Given the description of an element on the screen output the (x, y) to click on. 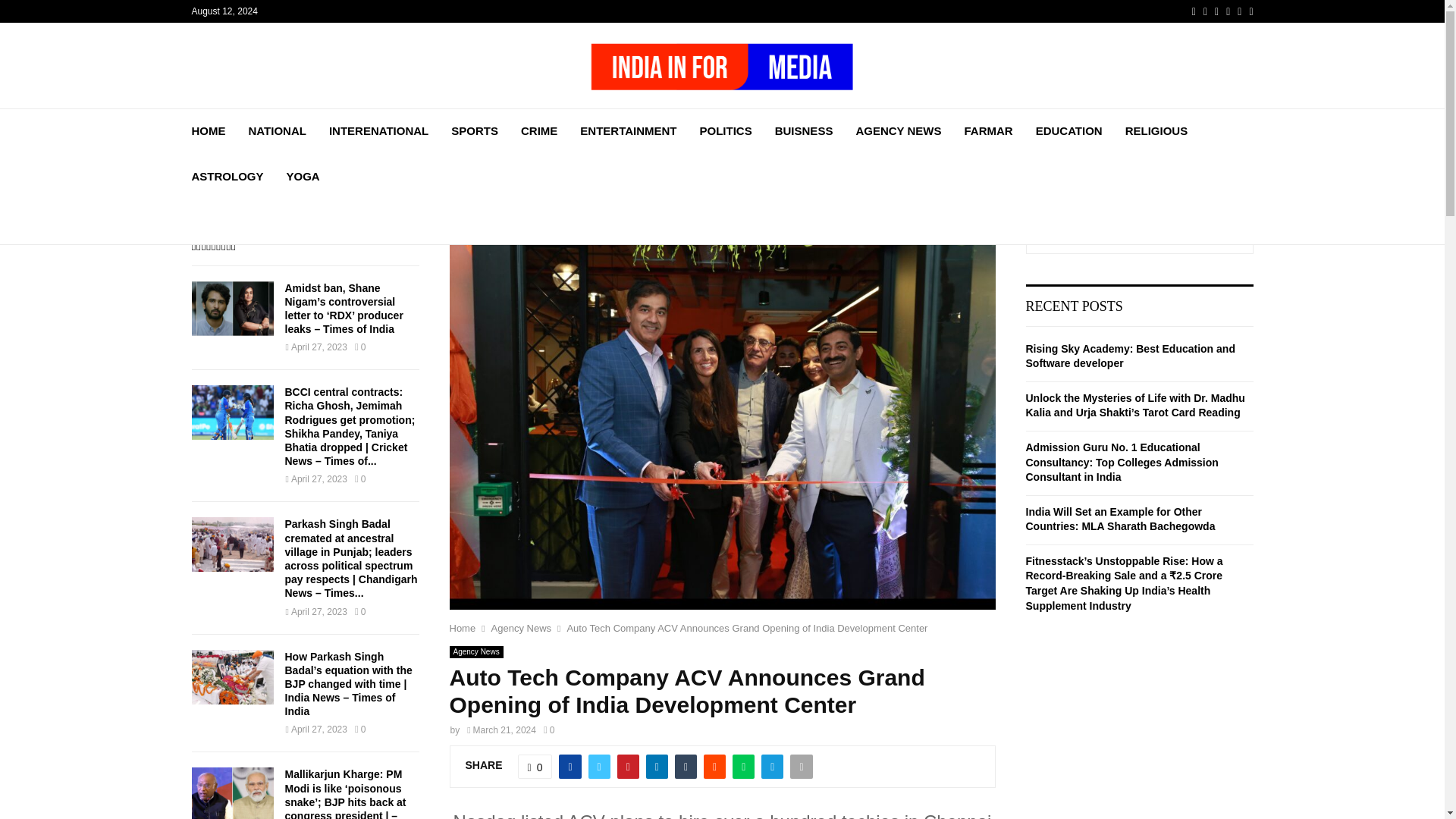
INTERENATIONAL (378, 130)
Like (535, 766)
ASTROLOGY (226, 176)
POLITICS (726, 130)
BUISNESS (803, 130)
EDUCATION (1068, 130)
FARMAR (987, 130)
SPORTS (474, 130)
RELIGIOUS (1156, 130)
